Given the description of an element on the screen output the (x, y) to click on. 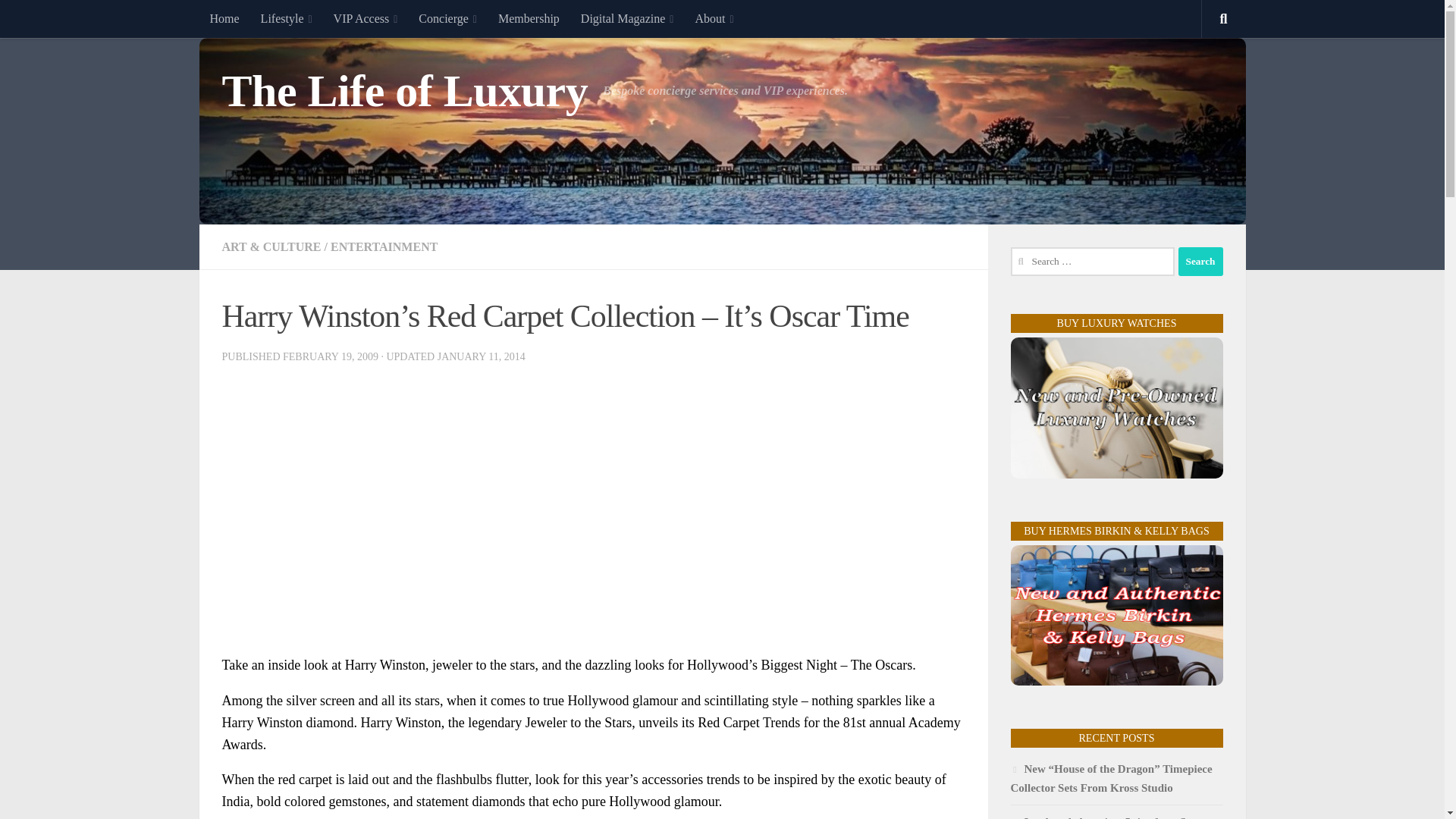
Search (1200, 261)
Search (1200, 261)
Skip to content (59, 20)
